Given the description of an element on the screen output the (x, y) to click on. 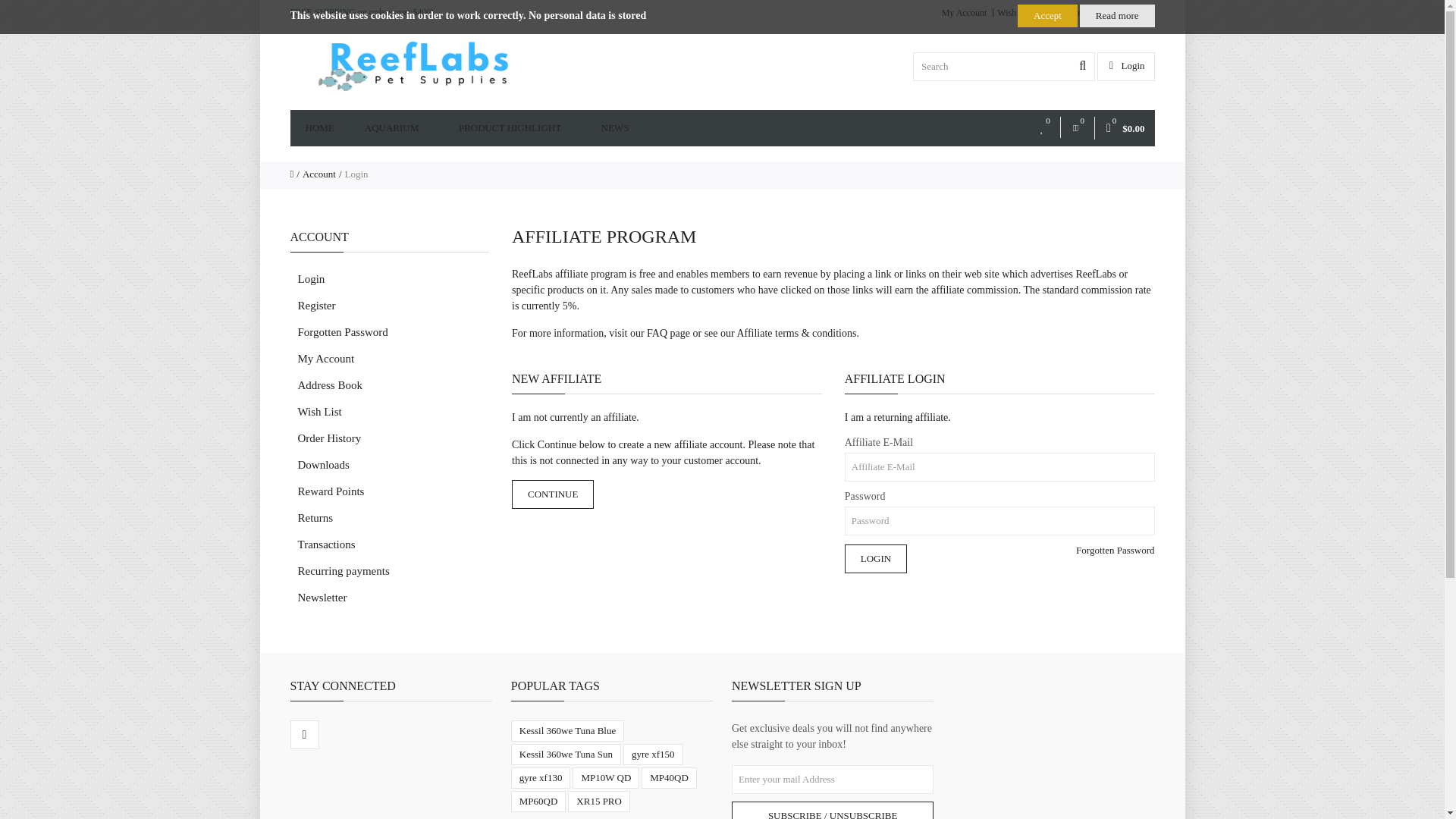
Login (875, 558)
AQUARIUM (396, 127)
My Account (964, 12)
ReefLabs (412, 65)
gyre xf130 (540, 777)
Shopping Cart (1080, 12)
gyre xf150 (652, 753)
Checkout (1134, 12)
Login (1126, 65)
Kessil 360we Tuna Sun (566, 753)
